Given the description of an element on the screen output the (x, y) to click on. 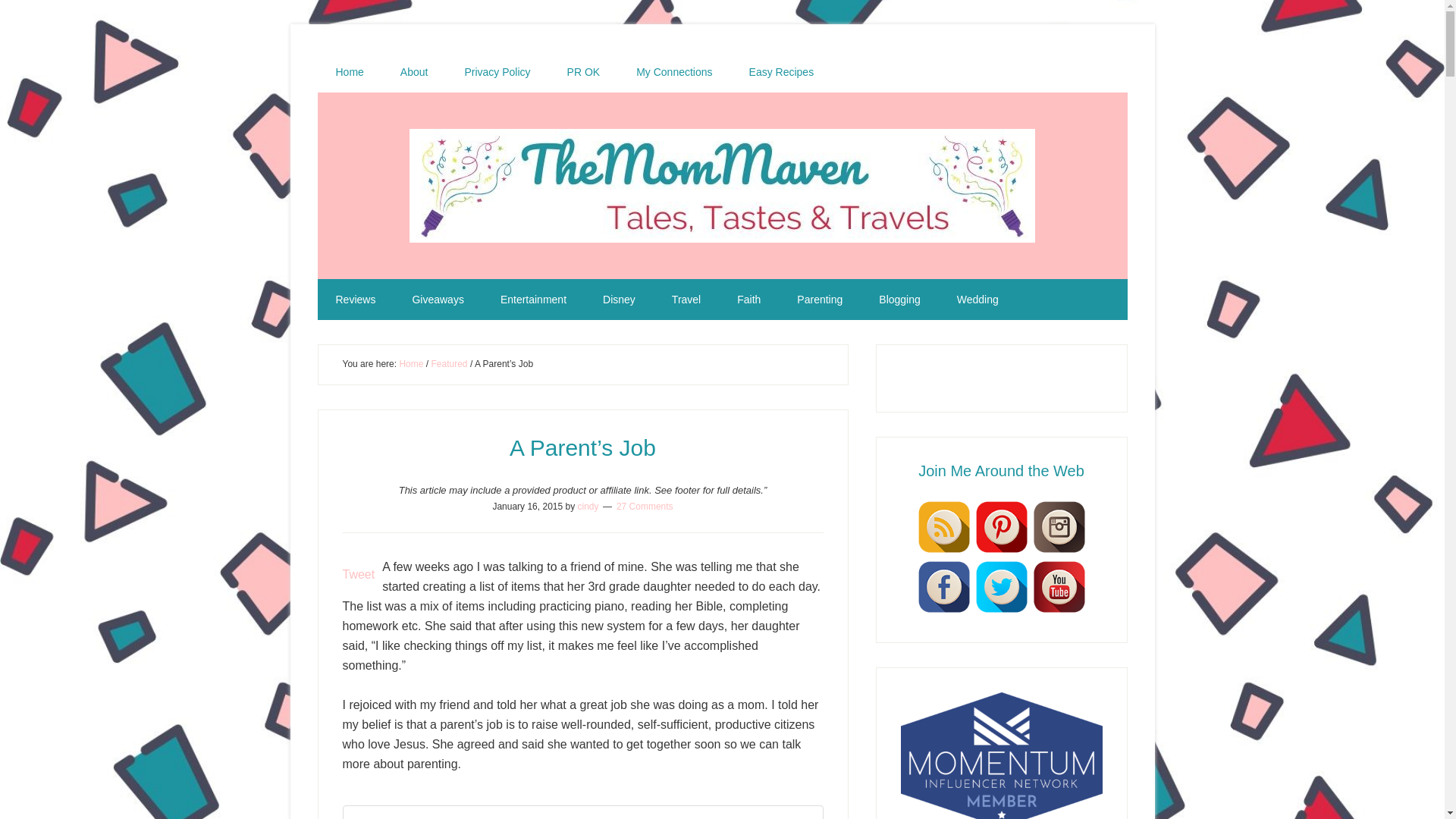
twitter (1000, 611)
Easy Recipes (781, 71)
The Mom Maven (721, 185)
RSS (943, 526)
youtube (1058, 611)
Pinterest (1000, 551)
Blogging (899, 299)
Instagram (1058, 526)
Featured (448, 363)
Home (349, 71)
